Given the description of an element on the screen output the (x, y) to click on. 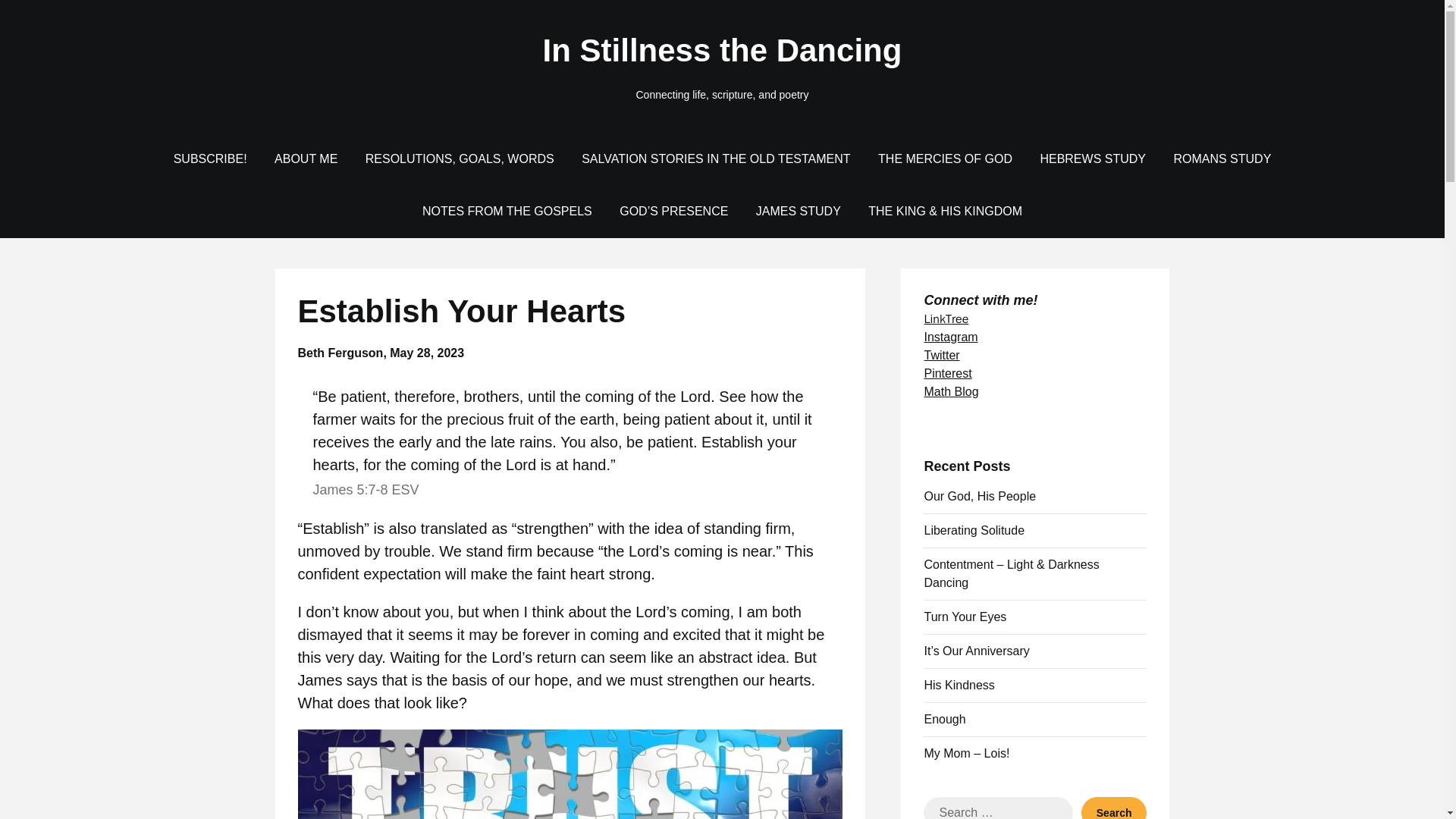
ROMANS STUDY (1221, 159)
SUBSCRIBE! (210, 159)
JAMES STUDY (798, 211)
RESOLUTIONS, GOALS, WORDS (459, 159)
ABOUT ME (305, 159)
May 28, 2023 (427, 352)
In Stillness the Dancing (722, 51)
NOTES FROM THE GOSPELS (507, 211)
THE MERCIES OF GOD (945, 159)
HEBREWS STUDY (1092, 159)
Search (1114, 807)
Search (1114, 807)
SALVATION STORIES IN THE OLD TESTAMENT (715, 159)
